Given the description of an element on the screen output the (x, y) to click on. 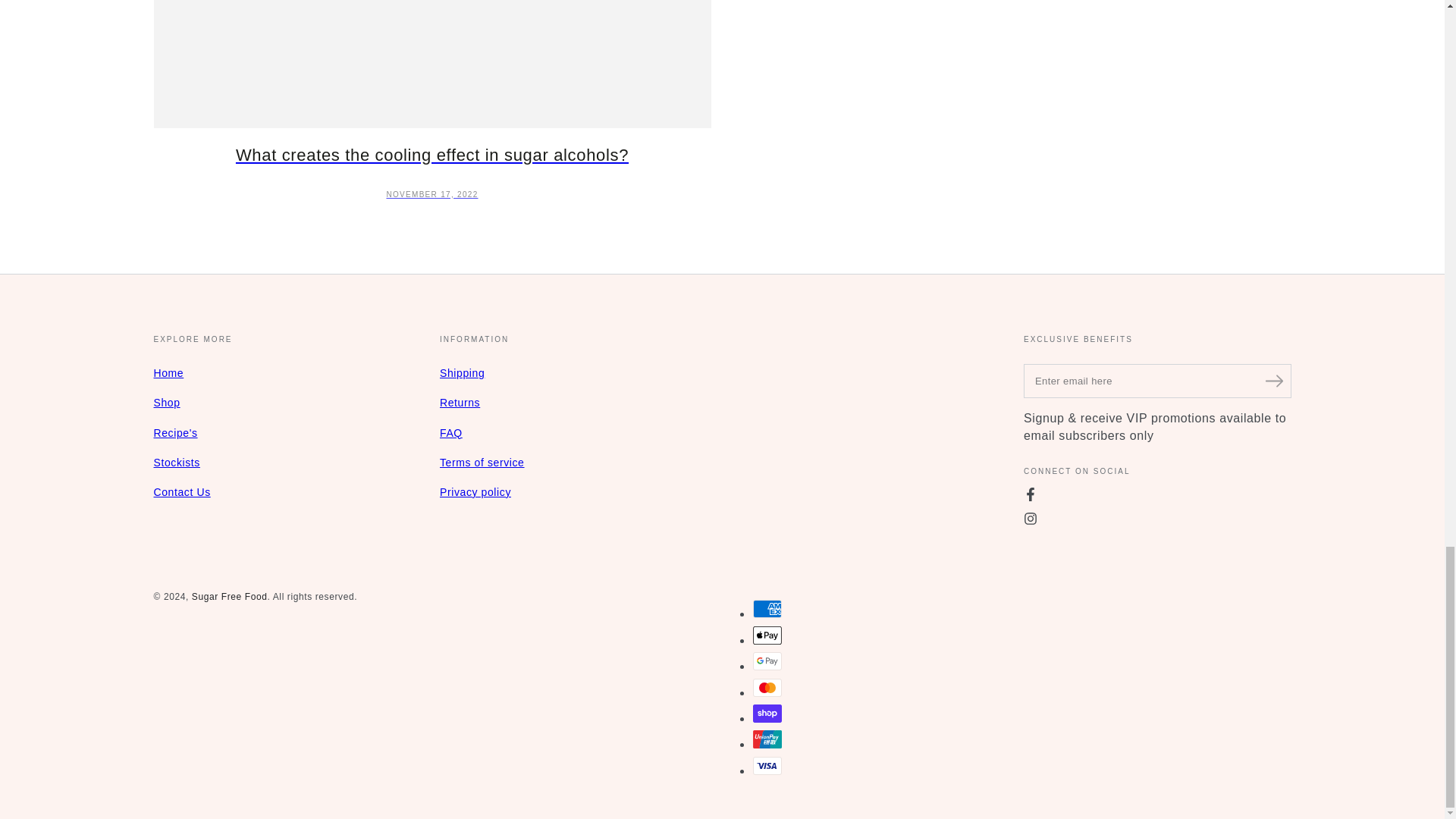
American Express (766, 608)
Google Pay (766, 660)
Shop Pay (766, 713)
Visa (766, 765)
Apple Pay (766, 635)
Mastercard (766, 687)
Union Pay (766, 739)
